Given the description of an element on the screen output the (x, y) to click on. 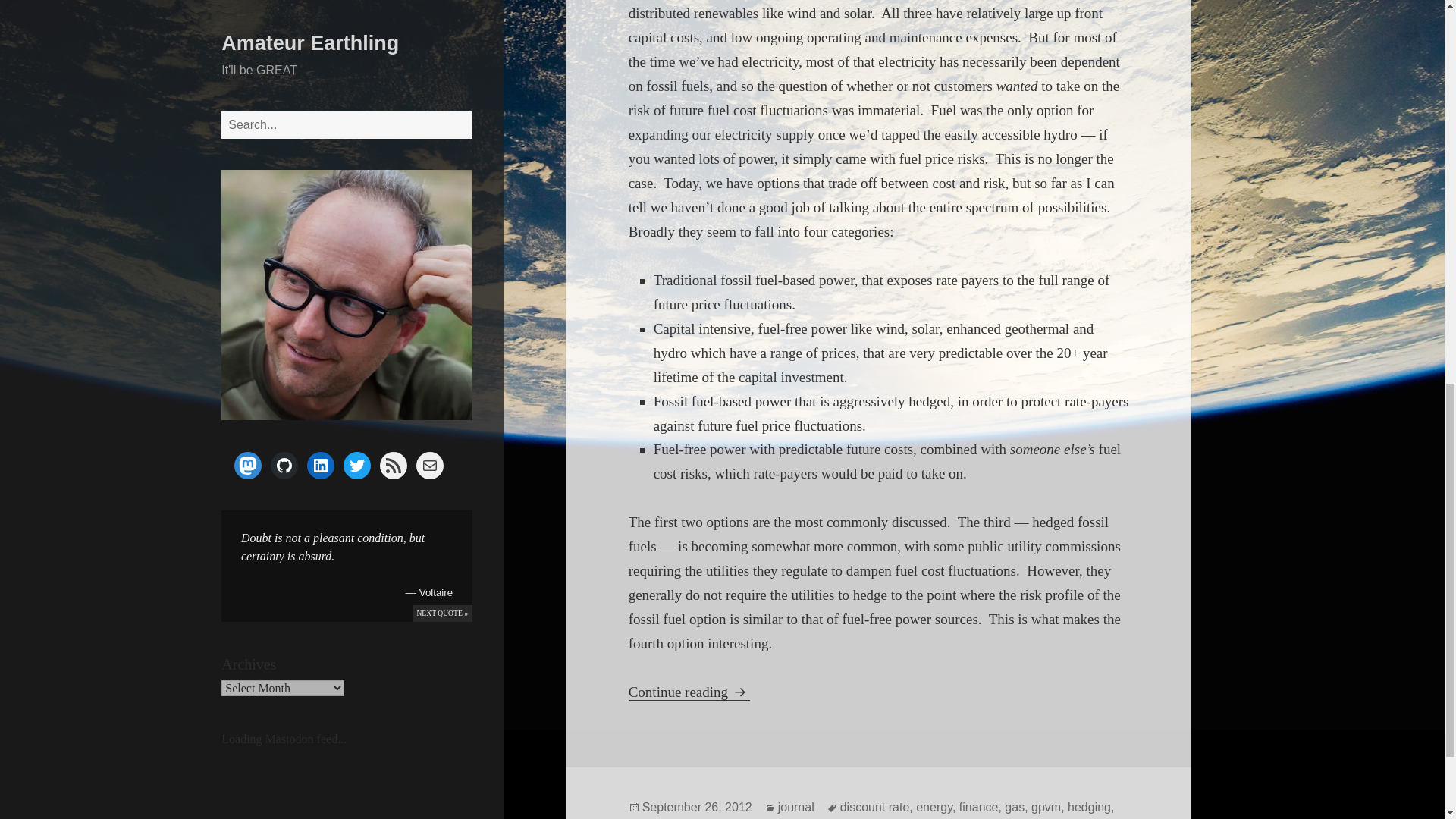
gpvm (1045, 807)
gas (1014, 807)
discount rate (875, 807)
September 26, 2012 (697, 807)
finance (978, 807)
energy (933, 807)
journal (795, 807)
hedging (1088, 807)
